Given the description of an element on the screen output the (x, y) to click on. 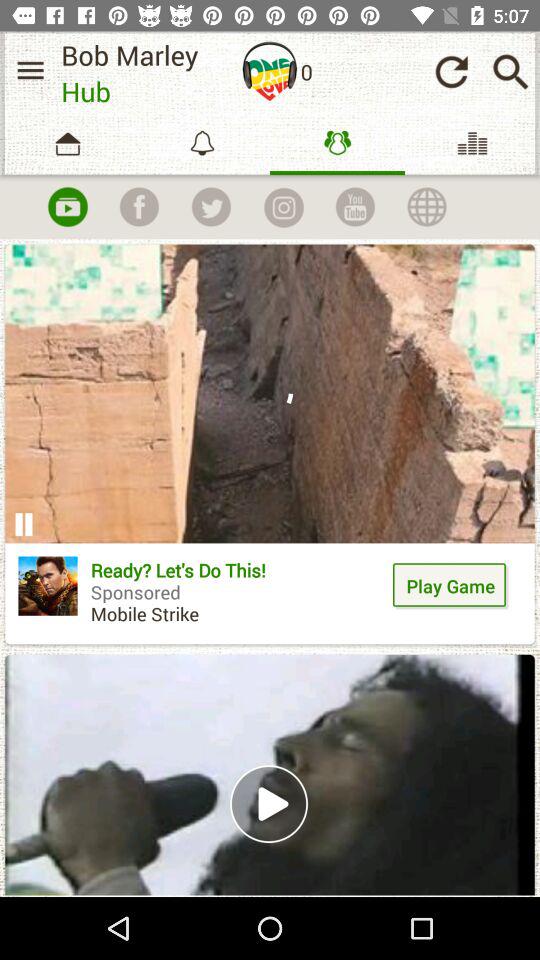
flip to the ready let s (238, 599)
